Given the description of an element on the screen output the (x, y) to click on. 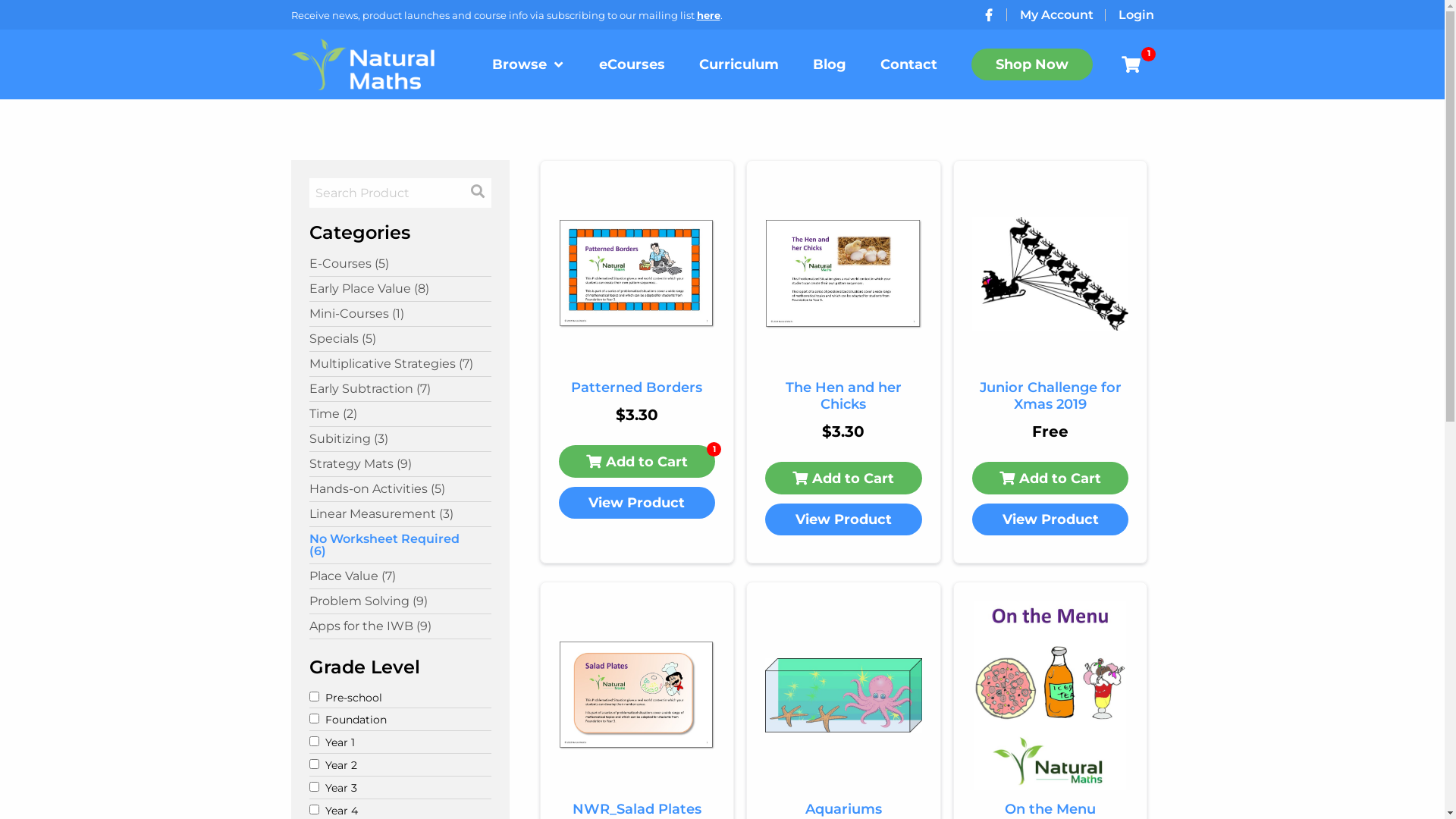
Place Value (7) Element type: text (400, 576)
My Account Element type: text (1055, 15)
Problem Solving (9) Element type: text (400, 601)
NWR_Salad Plates Element type: text (636, 809)
Patterned Borders Element type: text (636, 387)
Add to Cart Element type: text (843, 477)
Contact Element type: text (908, 64)
Specials (5) Element type: text (400, 338)
Strategy Mats (9) Element type: text (400, 463)
Add to Cart
1 Element type: text (636, 461)
Junior Challenge for Xmas 2019 Element type: text (1050, 395)
Login Element type: text (1135, 15)
Curriculum Element type: text (738, 64)
Aquariums Element type: text (843, 809)
Apps for the IWB (9) Element type: text (400, 626)
Early Subtraction (7) Element type: text (400, 388)
Hands-on Activities (5) Element type: text (400, 488)
Subitizing (3) Element type: text (400, 438)
Add to Cart Element type: text (1050, 477)
Mini-Courses (1) Element type: text (400, 313)
Shop Now Element type: text (1031, 64)
eCourses Element type: text (632, 64)
View Product Element type: text (636, 502)
View Product Element type: text (843, 519)
Blog Element type: text (829, 64)
Browse Element type: text (528, 64)
here. Element type: text (708, 15)
Linear Measurement (3) Element type: text (400, 514)
On the Menu Element type: text (1050, 809)
E-Courses (5) Element type: text (400, 263)
Early Place Value (8) Element type: text (400, 288)
Multiplicative Strategies (7) Element type: text (400, 363)
The Hen and her Chicks Element type: text (843, 395)
No Worksheet Required (6) Element type: text (400, 545)
View Product Element type: text (1050, 519)
Time (2) Element type: text (400, 413)
1 Element type: text (1133, 64)
